Given the description of an element on the screen output the (x, y) to click on. 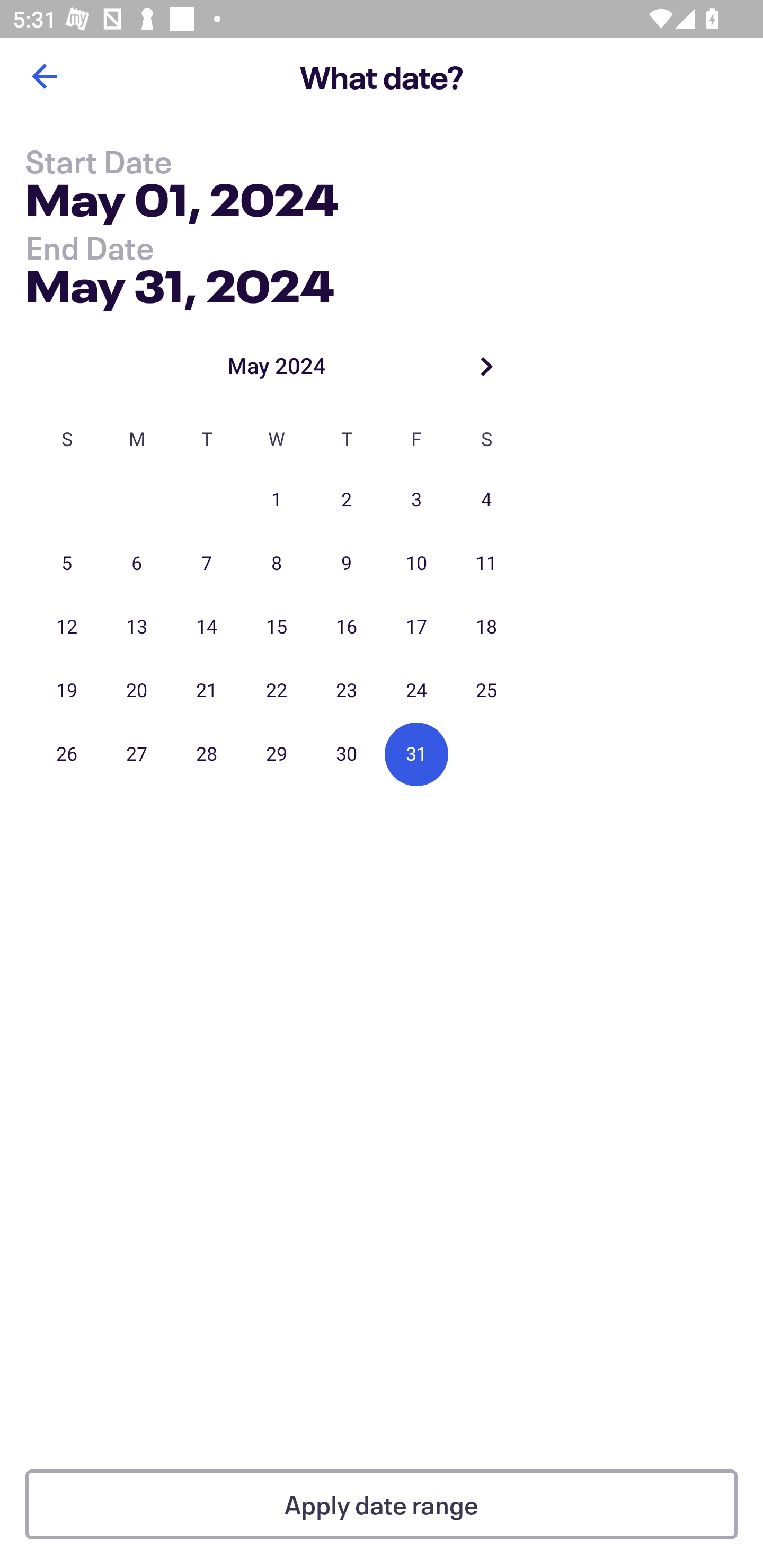
Back button (44, 75)
May 01, 2024 (181, 203)
May 31, 2024 (179, 282)
Next month (486, 365)
1 01 May 2024 (276, 499)
2 02 May 2024 (346, 499)
3 03 May 2024 (416, 499)
4 04 May 2024 (486, 499)
5 05 May 2024 (66, 563)
6 06 May 2024 (136, 563)
7 07 May 2024 (206, 563)
8 08 May 2024 (276, 563)
9 09 May 2024 (346, 563)
10 10 May 2024 (416, 563)
11 11 May 2024 (486, 563)
12 12 May 2024 (66, 626)
13 13 May 2024 (136, 626)
14 14 May 2024 (206, 626)
15 15 May 2024 (276, 626)
16 16 May 2024 (346, 626)
17 17 May 2024 (416, 626)
18 18 May 2024 (486, 626)
19 19 May 2024 (66, 690)
20 20 May 2024 (136, 690)
21 21 May 2024 (206, 690)
22 22 May 2024 (276, 690)
23 23 May 2024 (346, 690)
24 24 May 2024 (416, 690)
25 25 May 2024 (486, 690)
26 26 May 2024 (66, 753)
27 27 May 2024 (136, 753)
28 28 May 2024 (206, 753)
29 29 May 2024 (276, 753)
30 30 May 2024 (346, 753)
31 31 May 2024 (416, 753)
Apply date range (381, 1504)
